Given the description of an element on the screen output the (x, y) to click on. 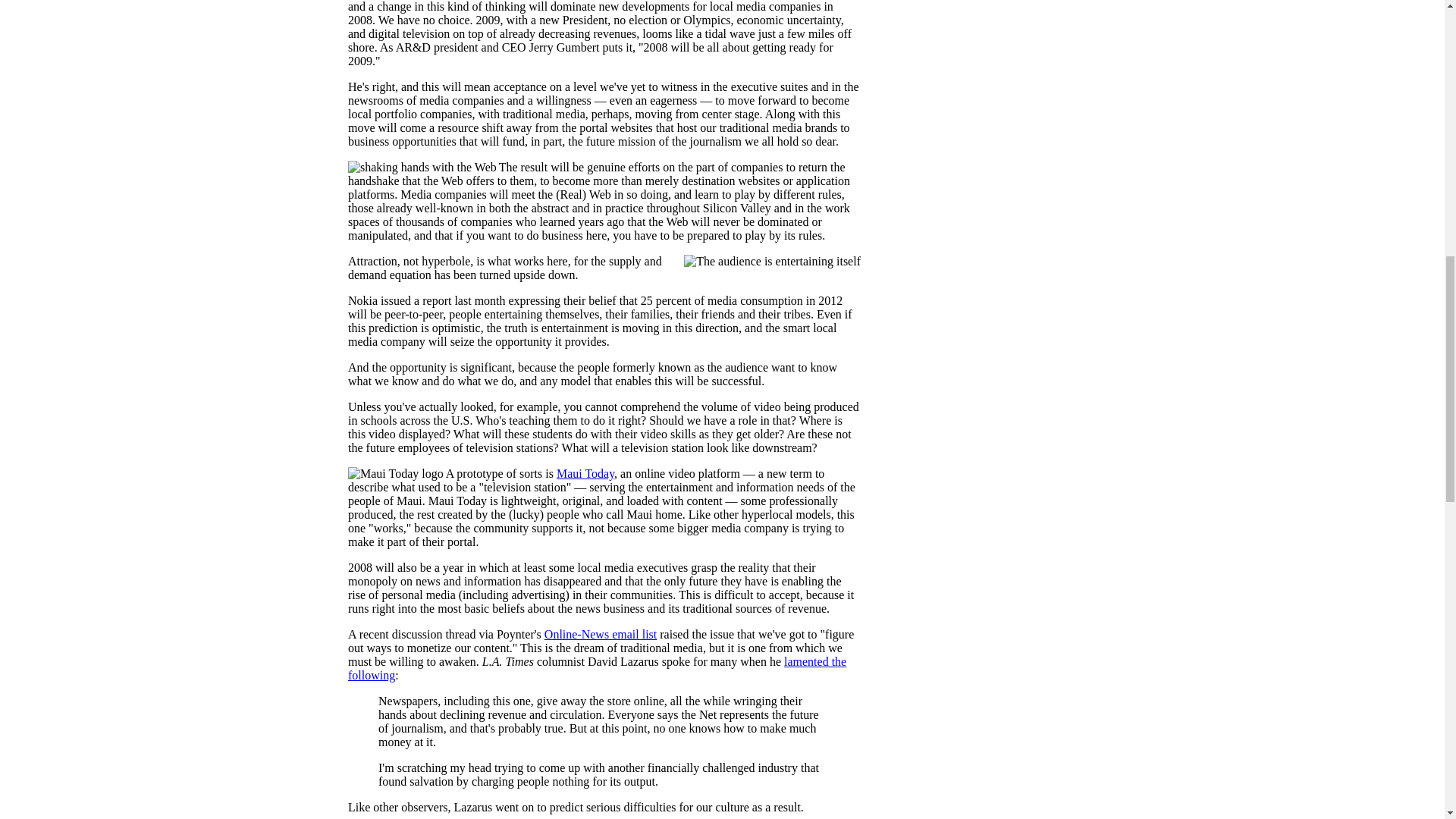
Online-News email list (600, 634)
lamented the following (596, 668)
Maui Today (585, 472)
